Given the description of an element on the screen output the (x, y) to click on. 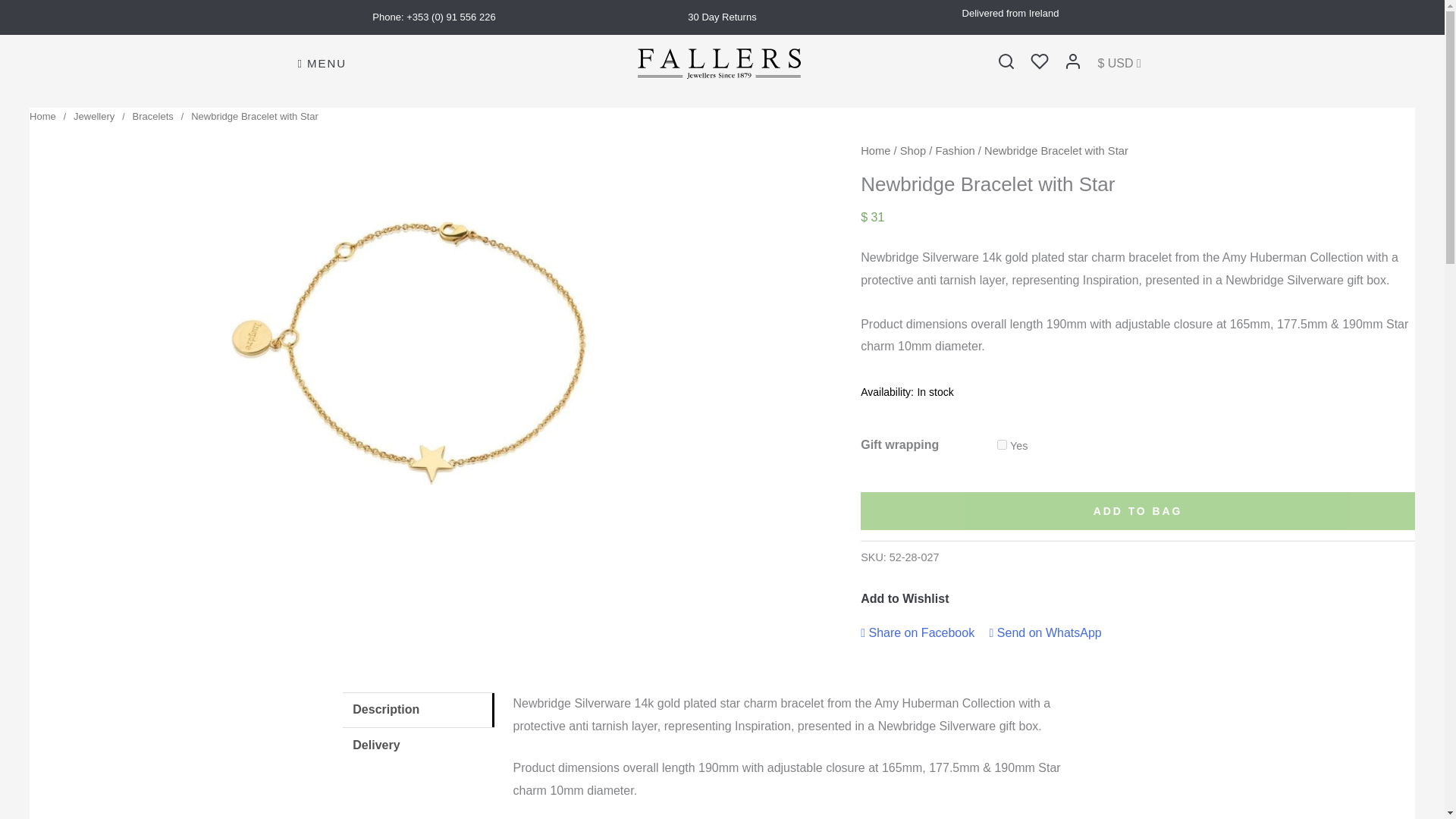
Send on WhatsApp (1046, 632)
Share on Facebook (917, 632)
Bracelets (152, 116)
yes (1002, 444)
Delivery (418, 745)
Fashion (954, 150)
Description (418, 709)
Add to Wishlist (904, 598)
Shop (912, 150)
MENU (321, 63)
Home (42, 116)
Jewellery (94, 116)
ADD TO BAG (1137, 510)
Home (874, 150)
